Given the description of an element on the screen output the (x, y) to click on. 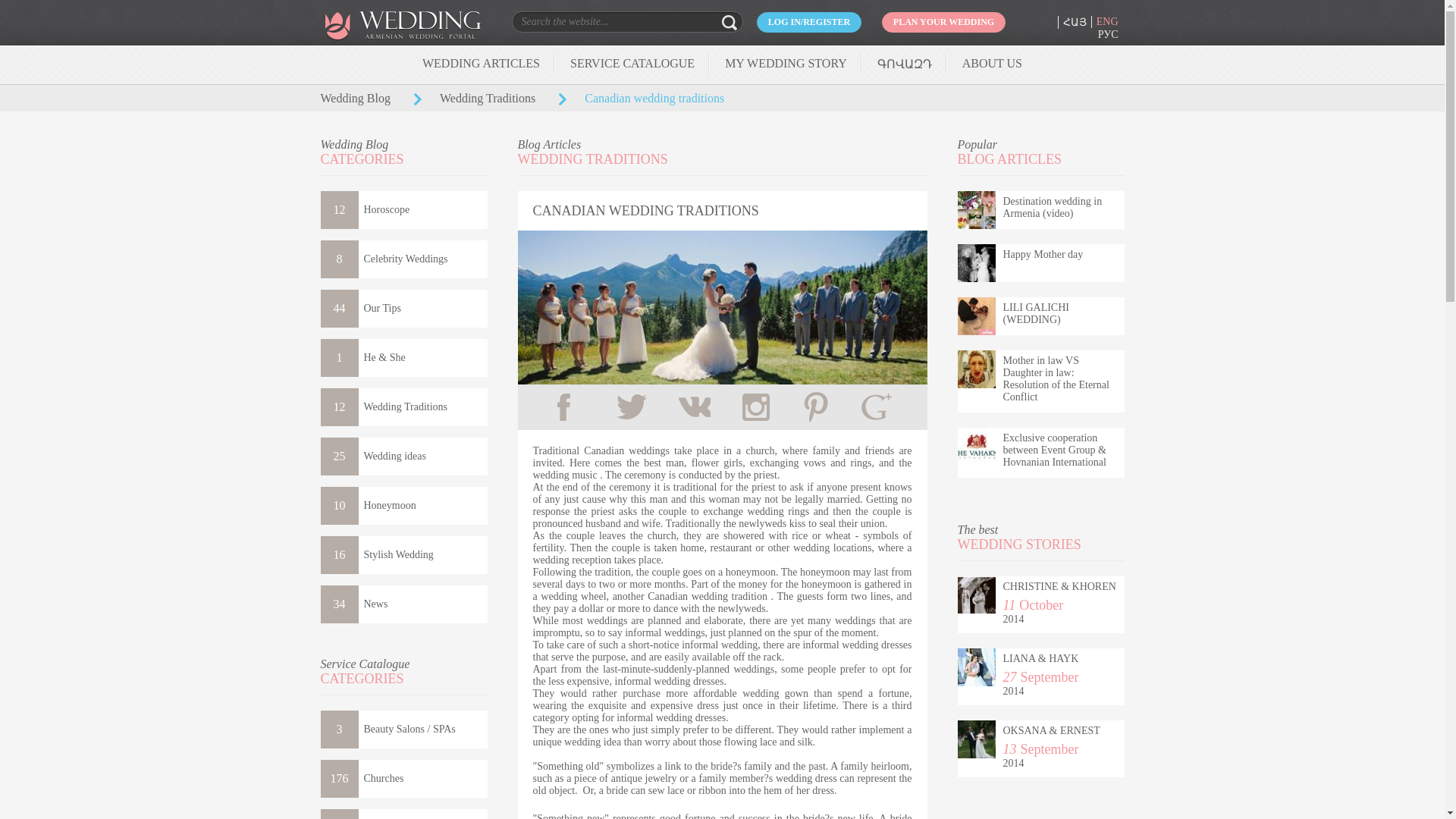
WEDDING ARTICLES (480, 62)
PLAN YOUR WEDDING (944, 22)
ENG (1107, 21)
SERVICE CATALOGUE (632, 62)
Enter the terms you wish to search for. (600, 21)
Wedding (419, 36)
